Given the description of an element on the screen output the (x, y) to click on. 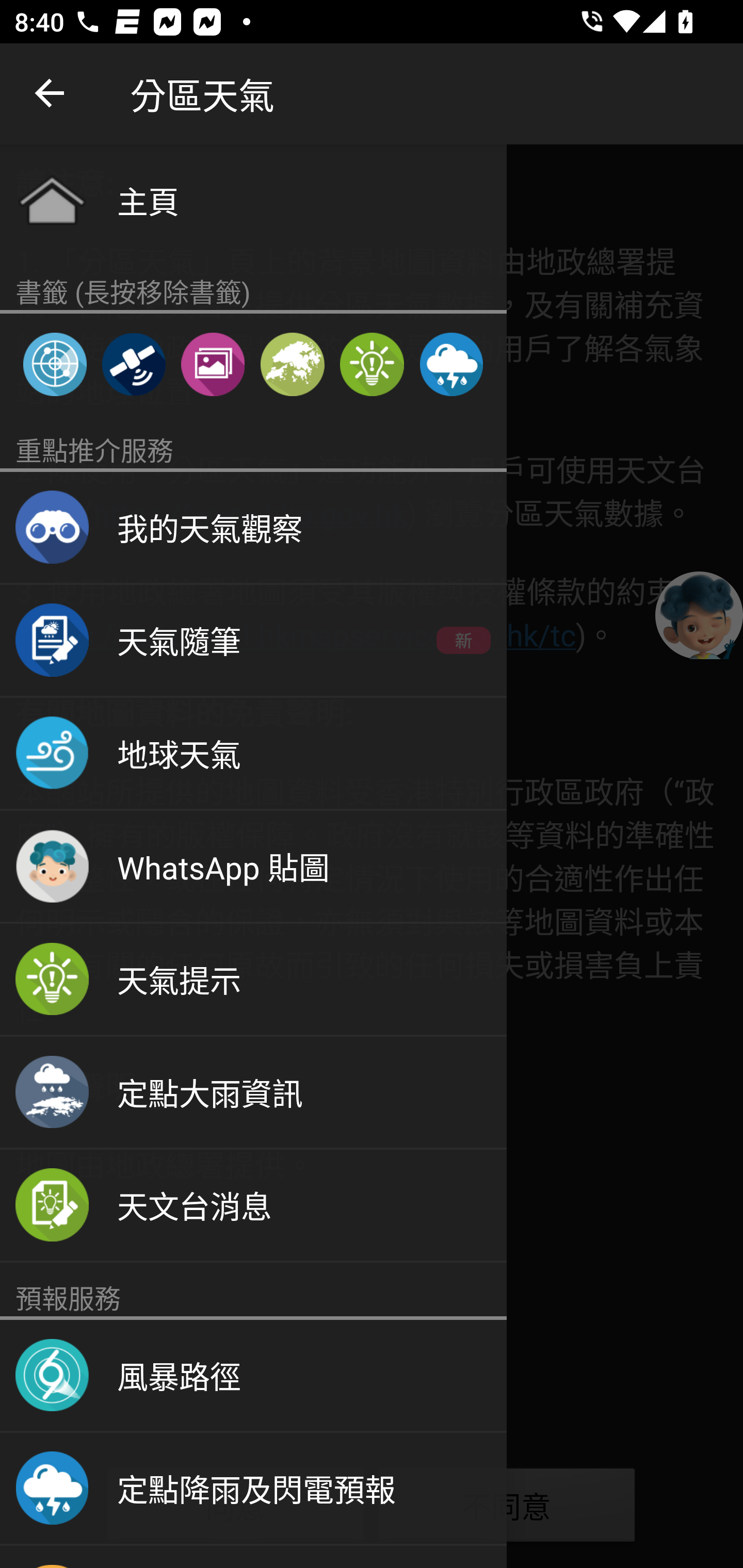
向上瀏覽 (50, 93)
主頁 (253, 199)
雷達圖像 (54, 364)
衛星圖像 (133, 364)
天氣照片 (212, 364)
分區天氣 (292, 364)
天氣提示 (371, 364)
定點降雨及閃電預報 (451, 364)
我的天氣觀察 (253, 527)
天氣隨筆 新功能 (253, 640)
地球天氣 (253, 753)
WhatsApp 貼圖 (253, 866)
天氣提示 (253, 979)
定點大雨資訊 (253, 1092)
天文台消息 (253, 1205)
風暴路徑 (253, 1375)
定點降雨及閃電預報 (253, 1488)
